Given the description of an element on the screen output the (x, y) to click on. 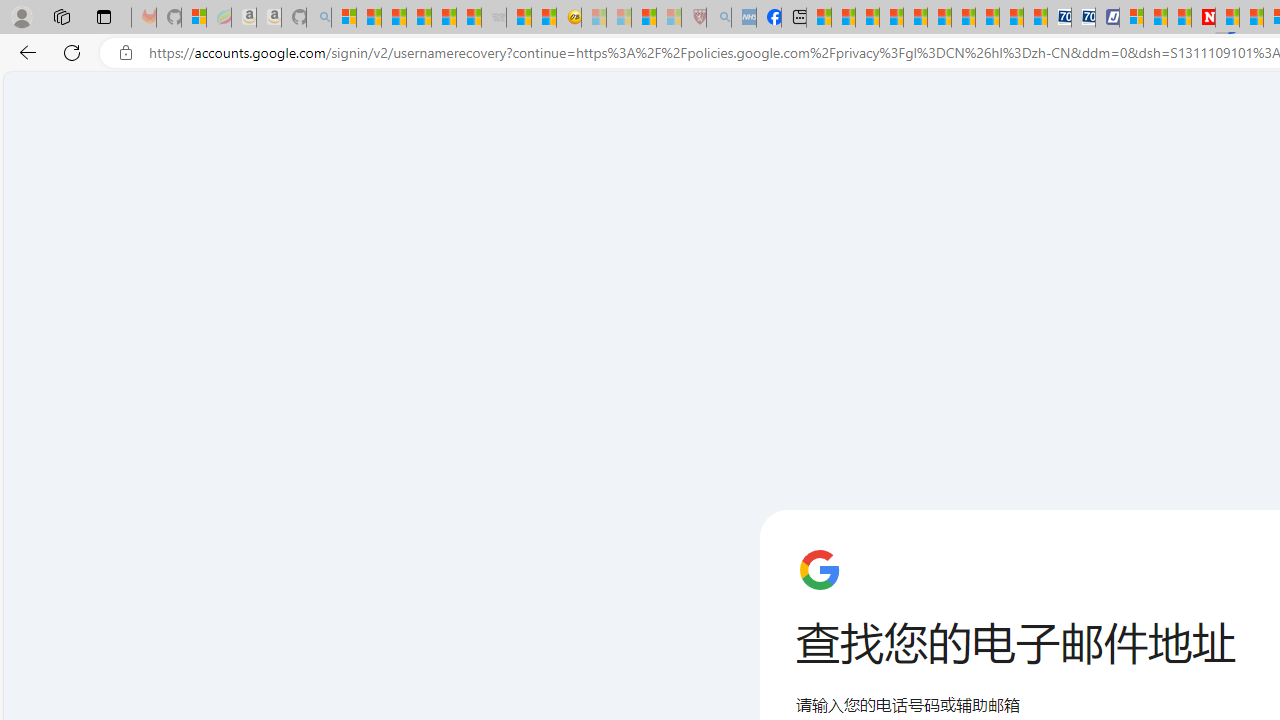
New Report Confirms 2023 Was Record Hot | Watch (443, 17)
World - MSN (867, 17)
12 Popular Science Lies that Must be Corrected - Sleeping (668, 17)
Cheap Hotels - Save70.com (1082, 17)
